Given the description of an element on the screen output the (x, y) to click on. 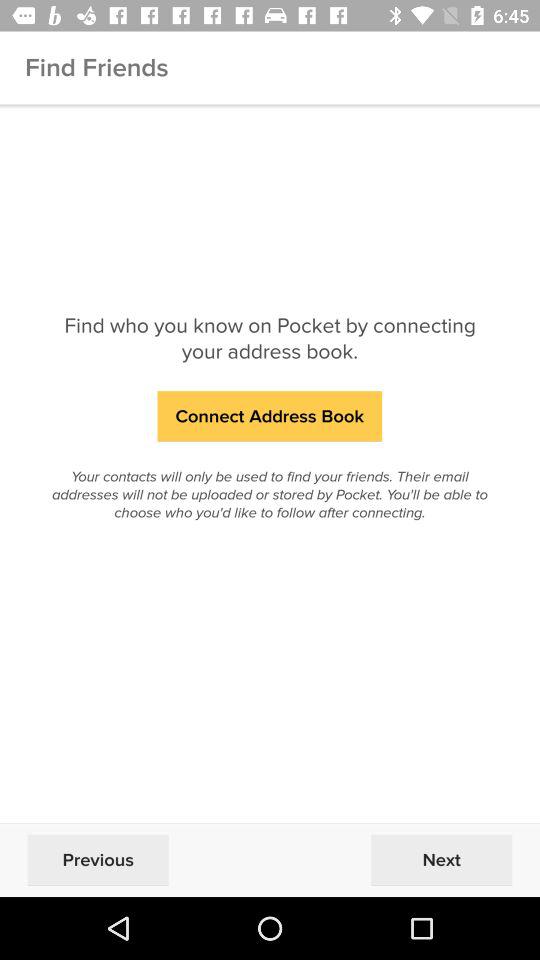
click next icon (441, 859)
